Given the description of an element on the screen output the (x, y) to click on. 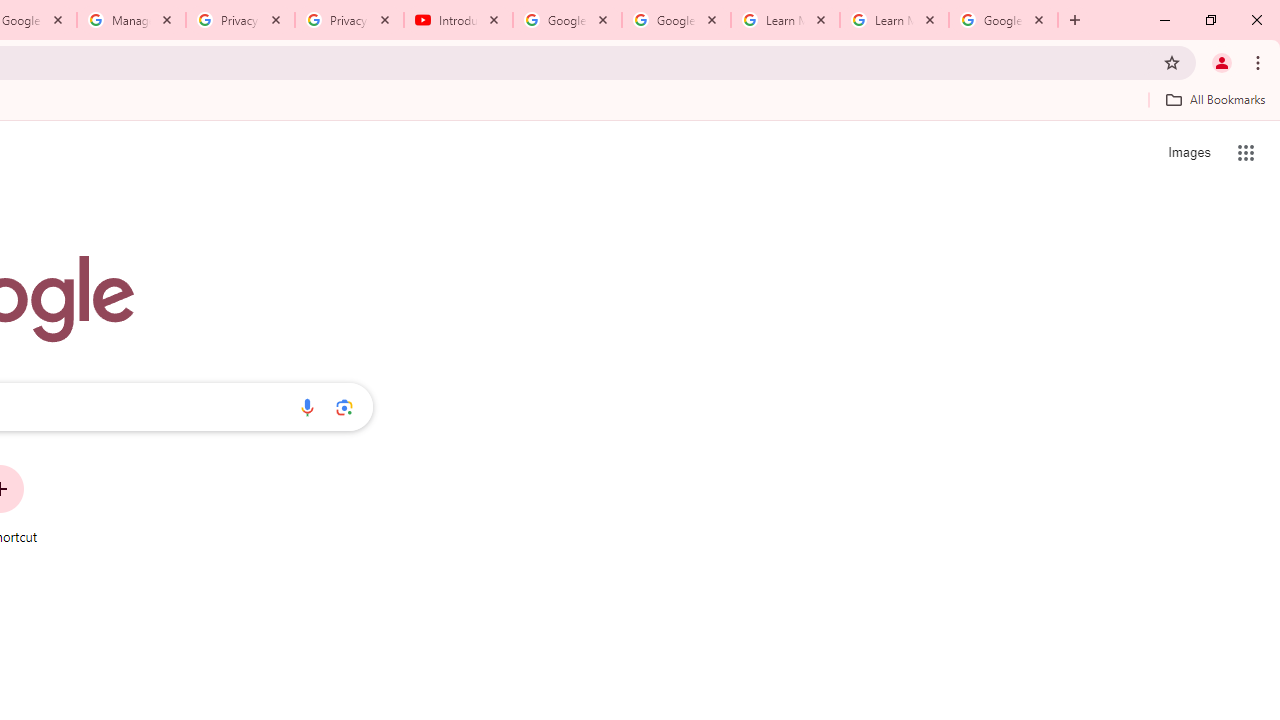
Introduction | Google Privacy Policy - YouTube (458, 20)
Google Account Help (676, 20)
Google Account (1003, 20)
Search by image (344, 407)
